Given the description of an element on the screen output the (x, y) to click on. 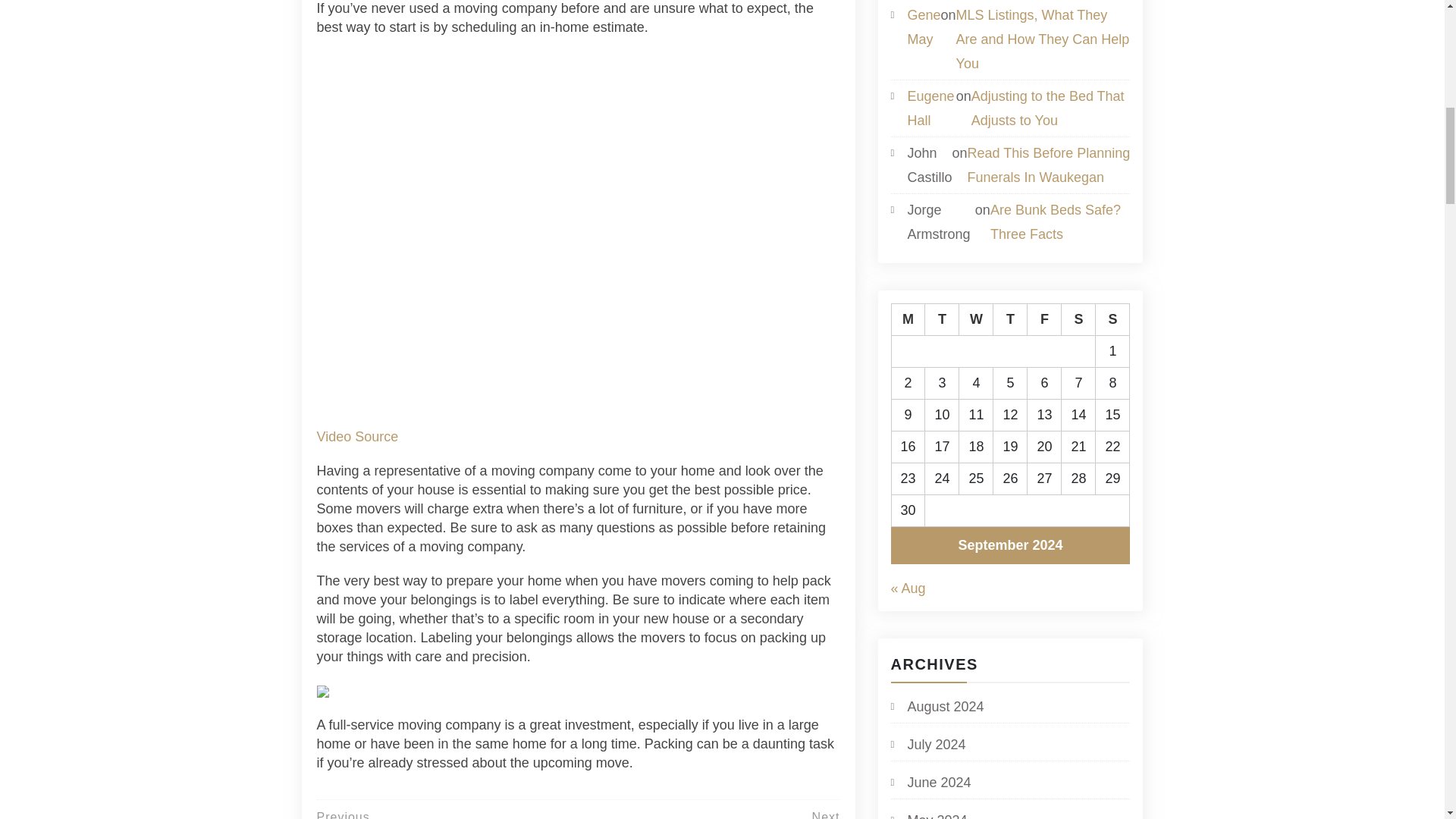
Previous (343, 814)
Friday (1044, 318)
Eugene Hall (930, 107)
Saturday (1078, 318)
Read This Before Planning Funerals In Waukegan (1049, 164)
Monday (907, 318)
Video Source (357, 436)
Adjusting to the Bed That Adjusts to You (1051, 108)
Tuesday (941, 318)
Are Bunk Beds Safe? Three Facts (1060, 222)
